Given the description of an element on the screen output the (x, y) to click on. 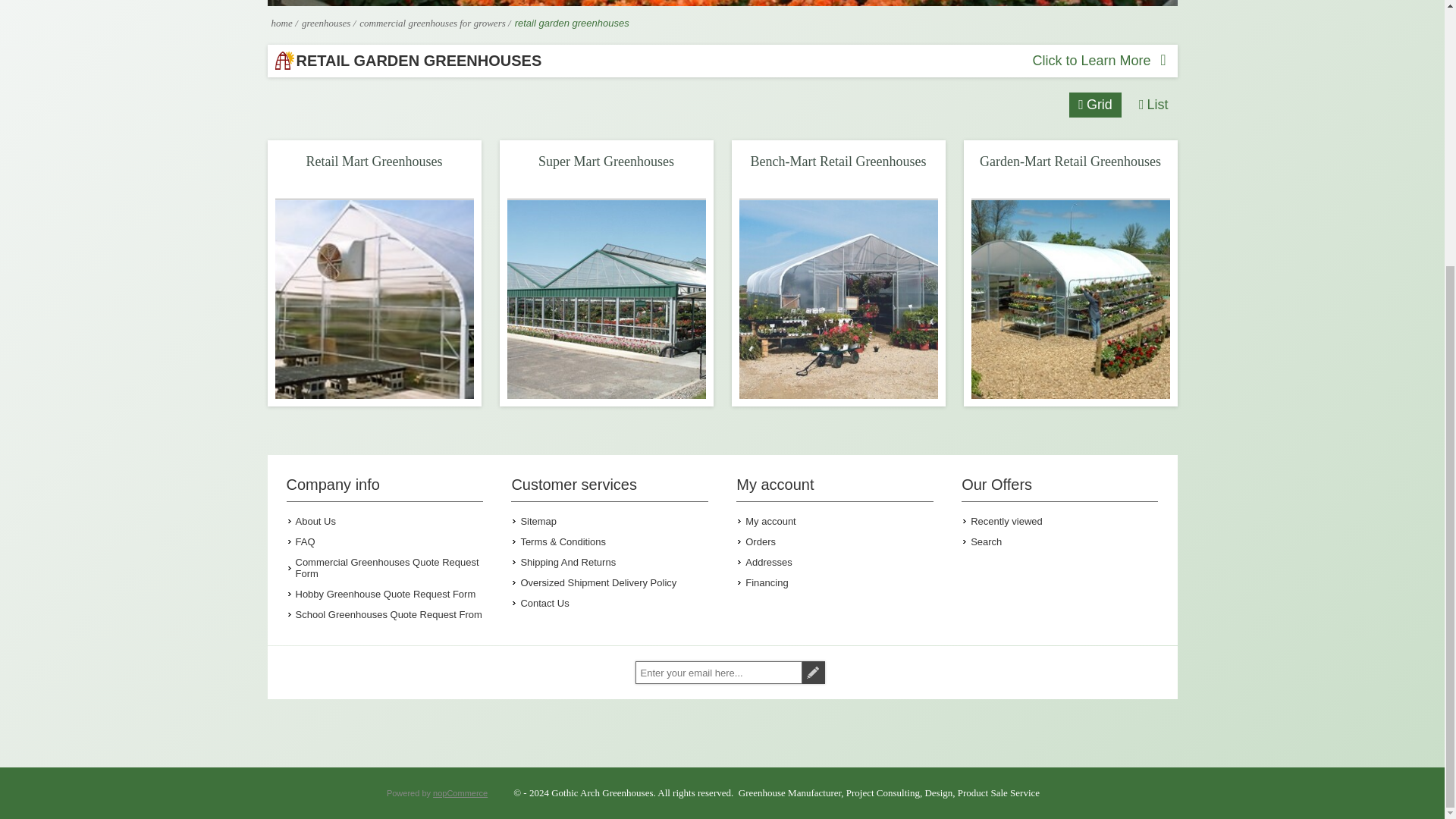
Show details for Super Mart Greenhouses (605, 298)
Greenhouses  (327, 22)
Commercial Greenhouses for Growers (433, 22)
Show details for Retail Mart Greenhouses (374, 298)
Garden-Mart  Retail Greenhouses (1070, 298)
Bench-Mart Retail Greenhouse (837, 298)
Home (281, 22)
